Given the description of an element on the screen output the (x, y) to click on. 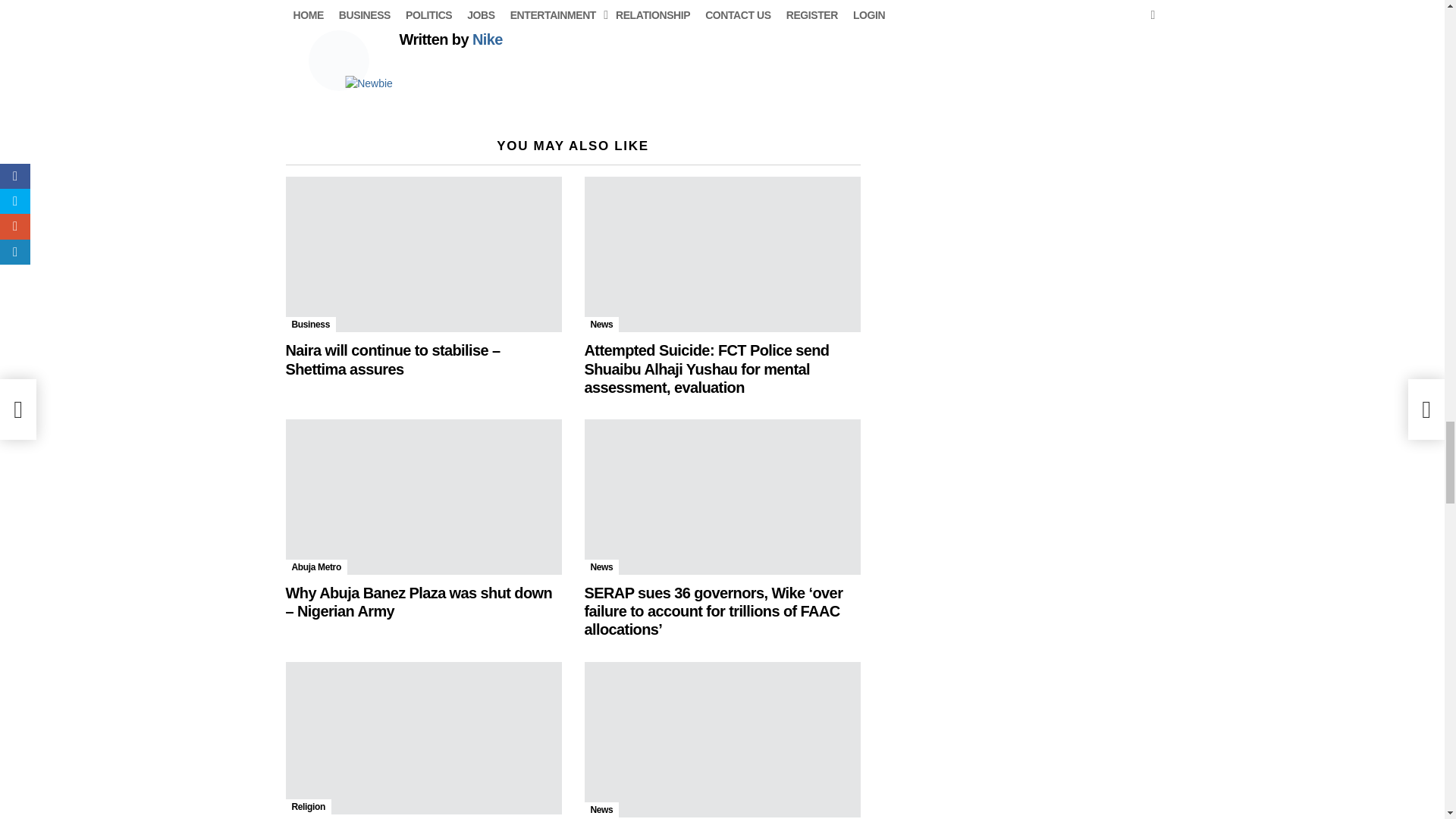
Nike (486, 39)
News (600, 324)
Business (309, 324)
